Given the description of an element on the screen output the (x, y) to click on. 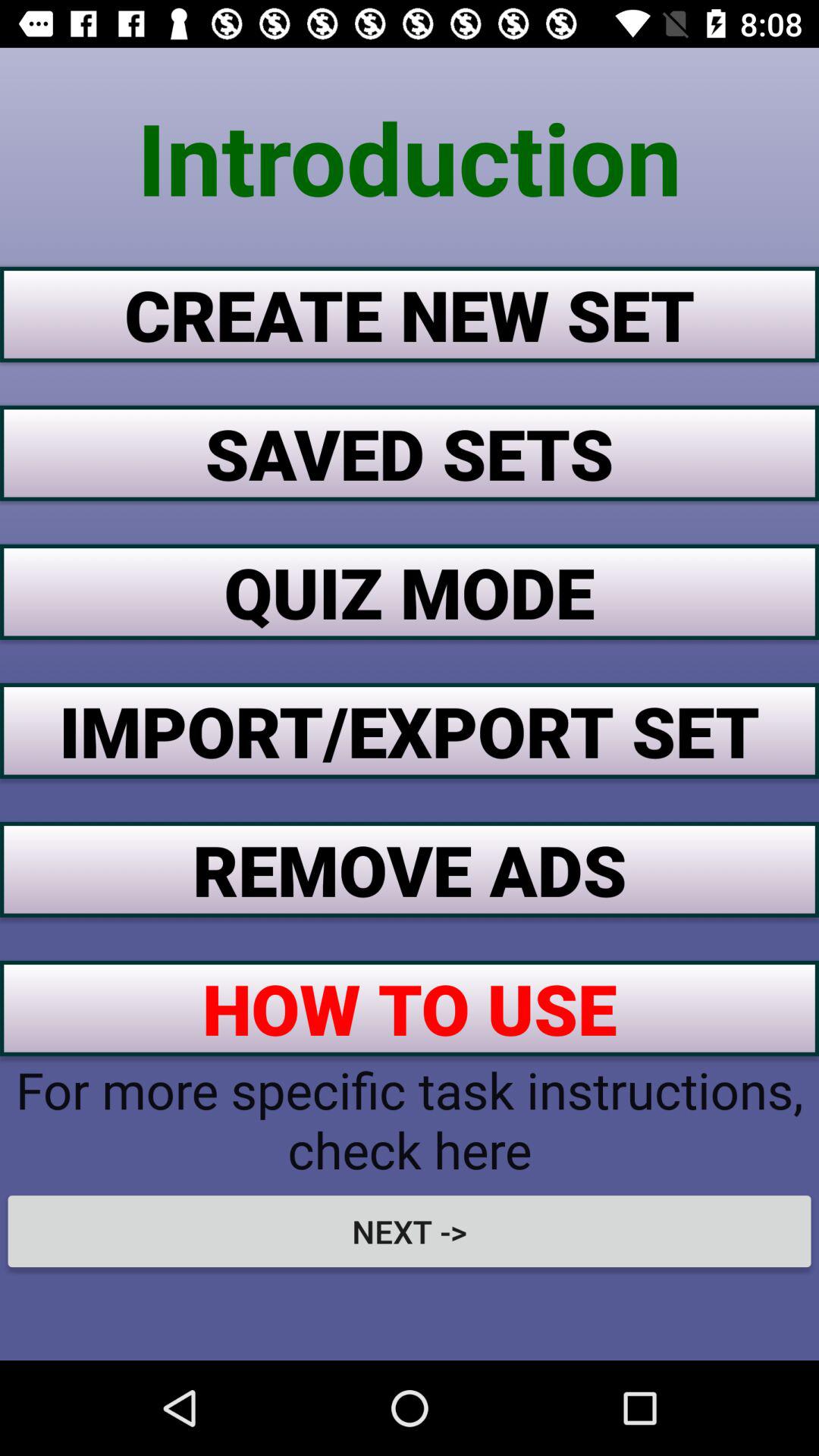
turn on the button below the create new set button (409, 453)
